Given the description of an element on the screen output the (x, y) to click on. 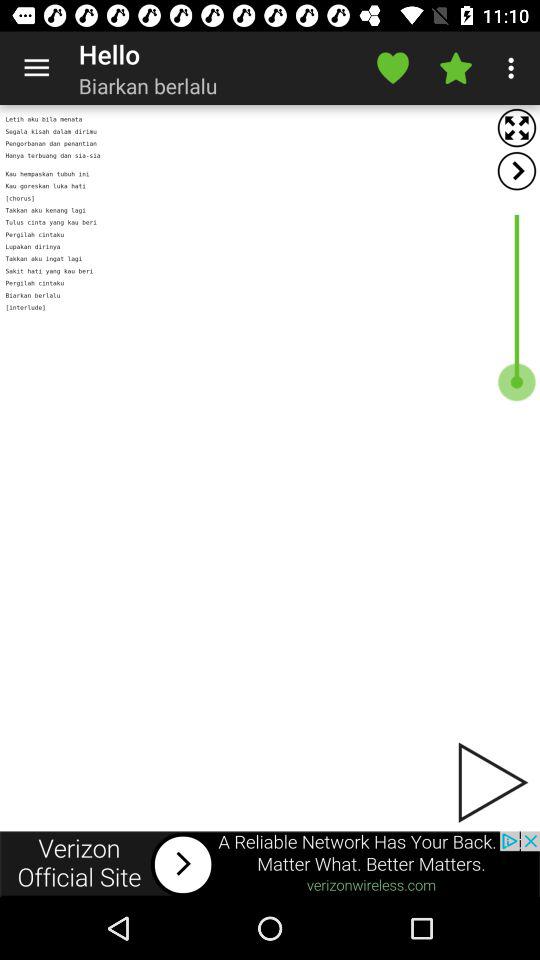
go forward (516, 170)
